Given the description of an element on the screen output the (x, y) to click on. 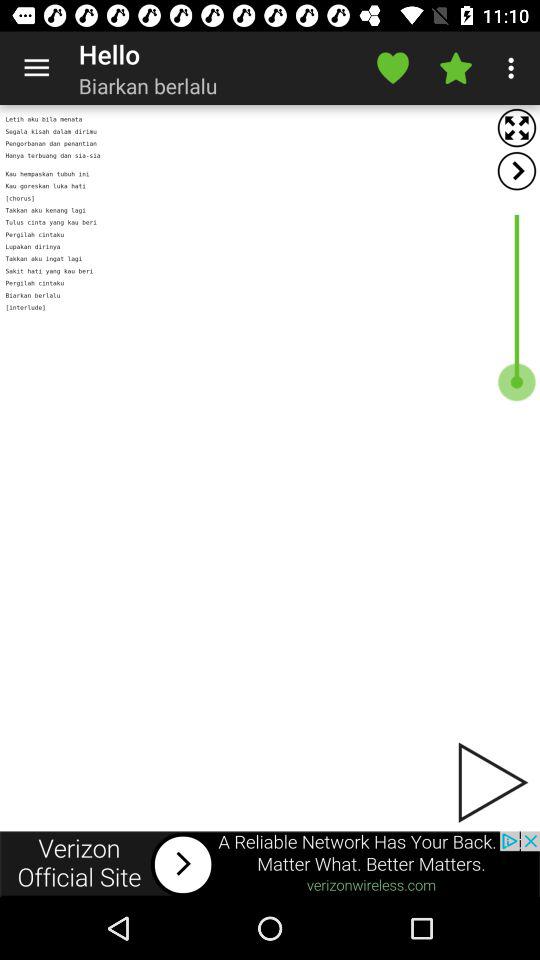
go forward (516, 170)
